Given the description of an element on the screen output the (x, y) to click on. 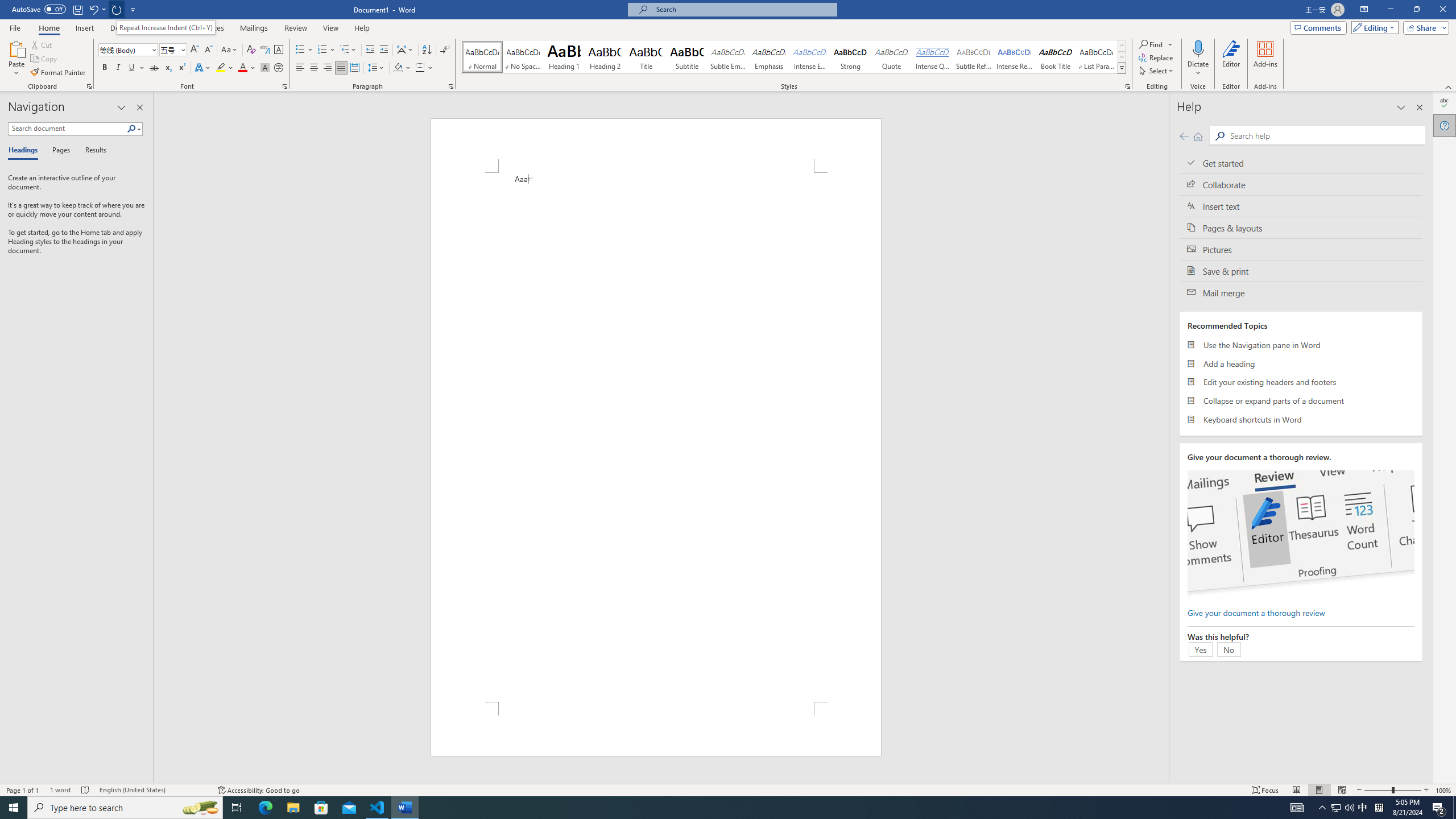
Spelling and Grammar Check No Errors (85, 790)
Heading 2 (605, 56)
Edit your existing headers and footers (1300, 381)
Yes (1200, 649)
